Given the description of an element on the screen output the (x, y) to click on. 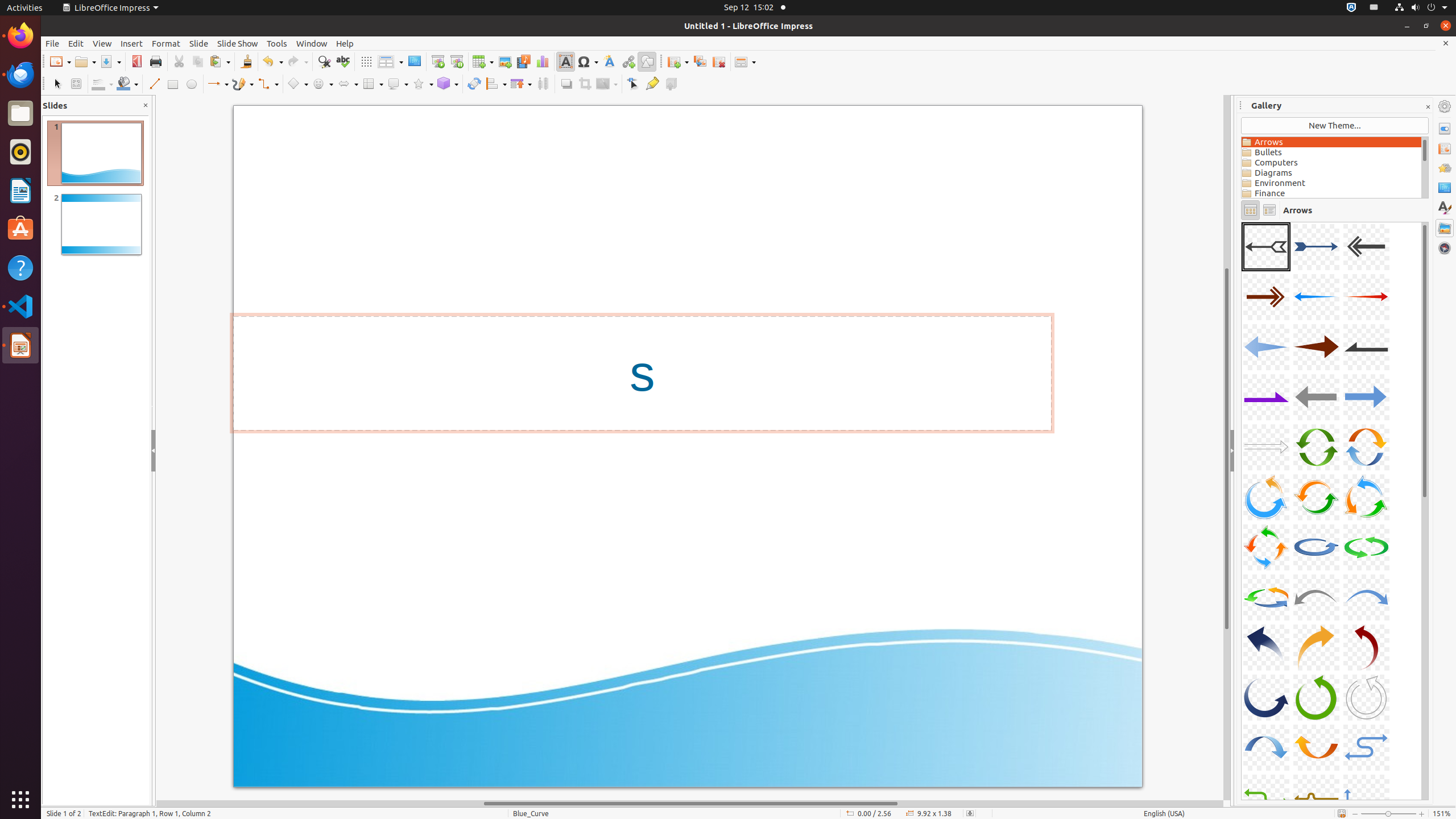
A23-CurvedArrow-Gray-Left Element type: list-item (1315, 596)
A31-CurvedArrow-LightBlue Element type: list-item (1265, 746)
Slide Transition Element type: radio-button (1444, 148)
:1.72/StatusNotifierItem Element type: menu (1350, 7)
Clone Element type: push-button (245, 61)
